Given the description of an element on the screen output the (x, y) to click on. 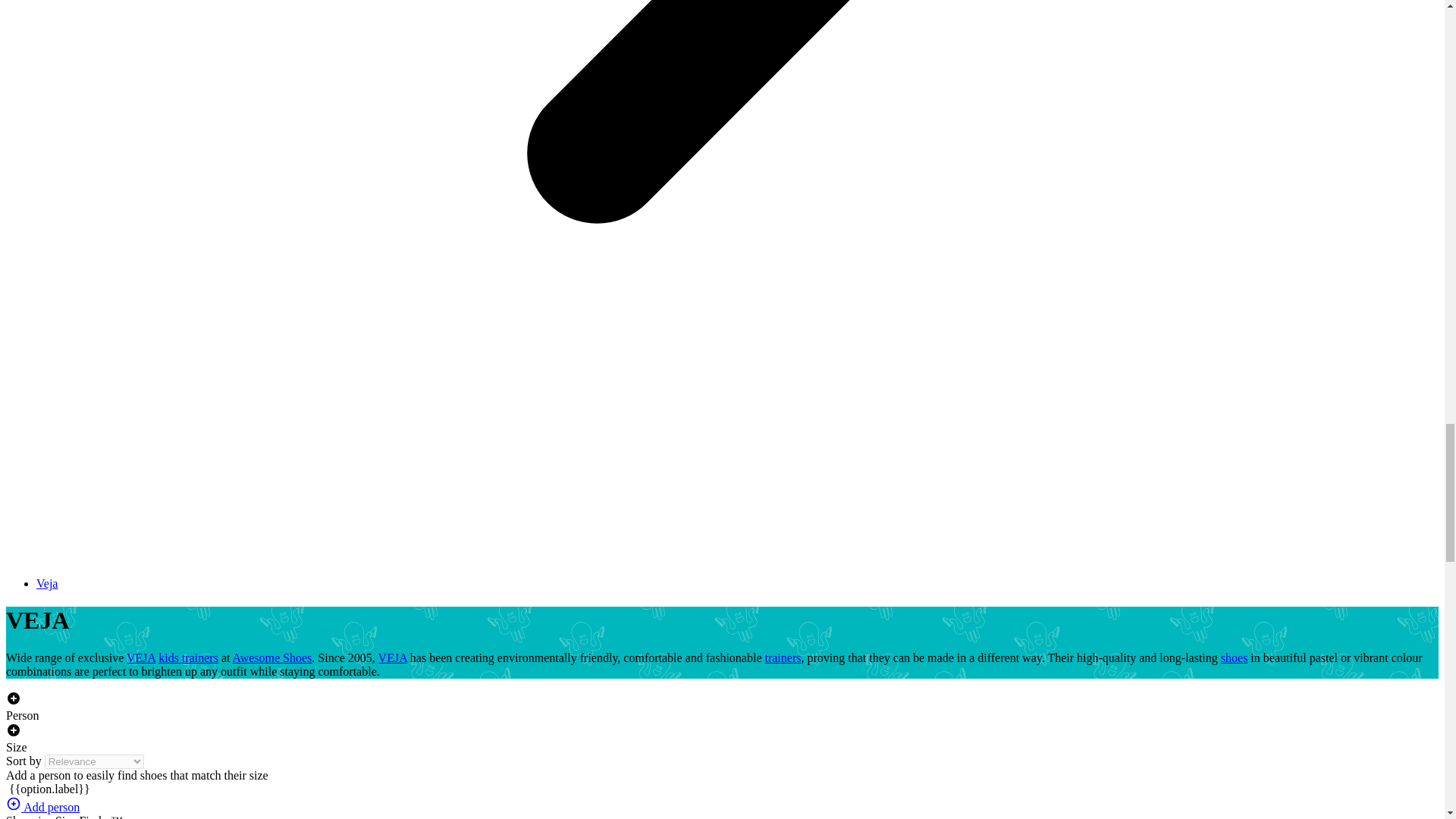
trainers (782, 657)
VEJA (392, 657)
Veja (47, 583)
Add person (42, 807)
Awesome Shoes (272, 657)
shoes (1234, 657)
VEJA (140, 657)
kids trainers (188, 657)
